Given the description of an element on the screen output the (x, y) to click on. 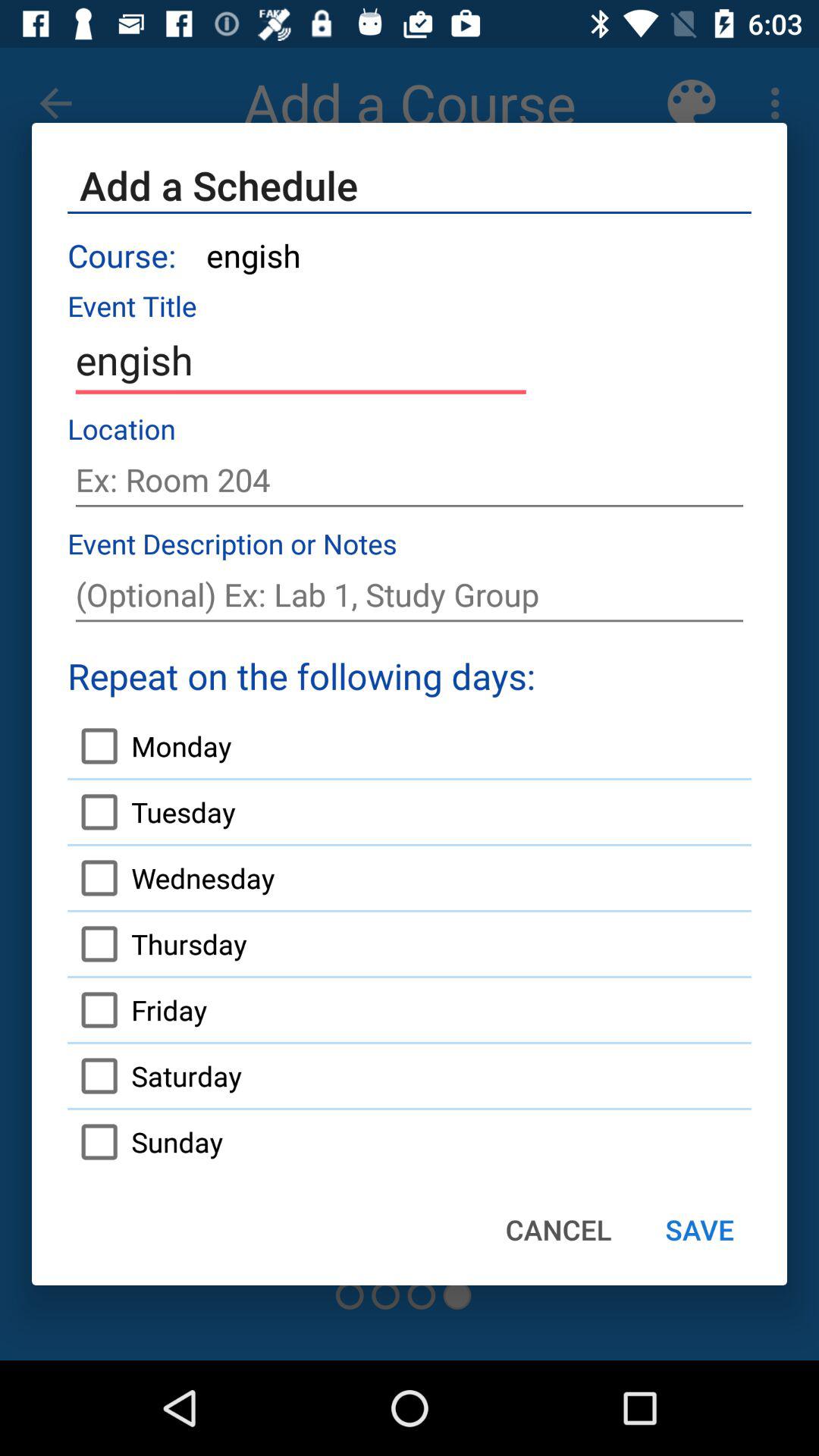
swipe to the cancel (558, 1229)
